Given the description of an element on the screen output the (x, y) to click on. 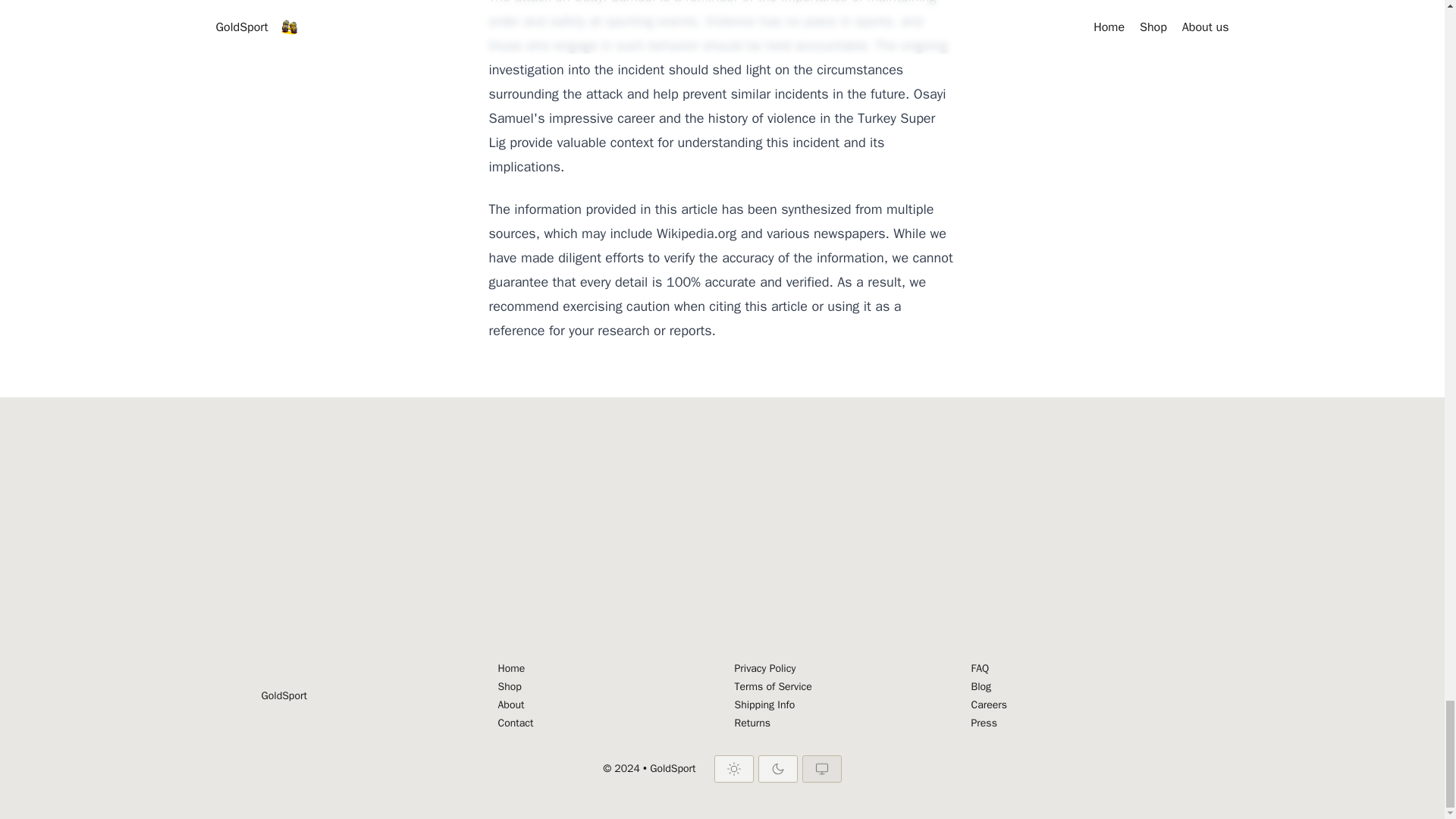
Contact (603, 723)
Careers (1076, 704)
Home (603, 668)
GoldSport (282, 695)
Shop (603, 686)
Privacy Policy (839, 668)
Returns (839, 723)
Blog (1076, 686)
About (603, 704)
Terms of Service (839, 686)
